Given the description of an element on the screen output the (x, y) to click on. 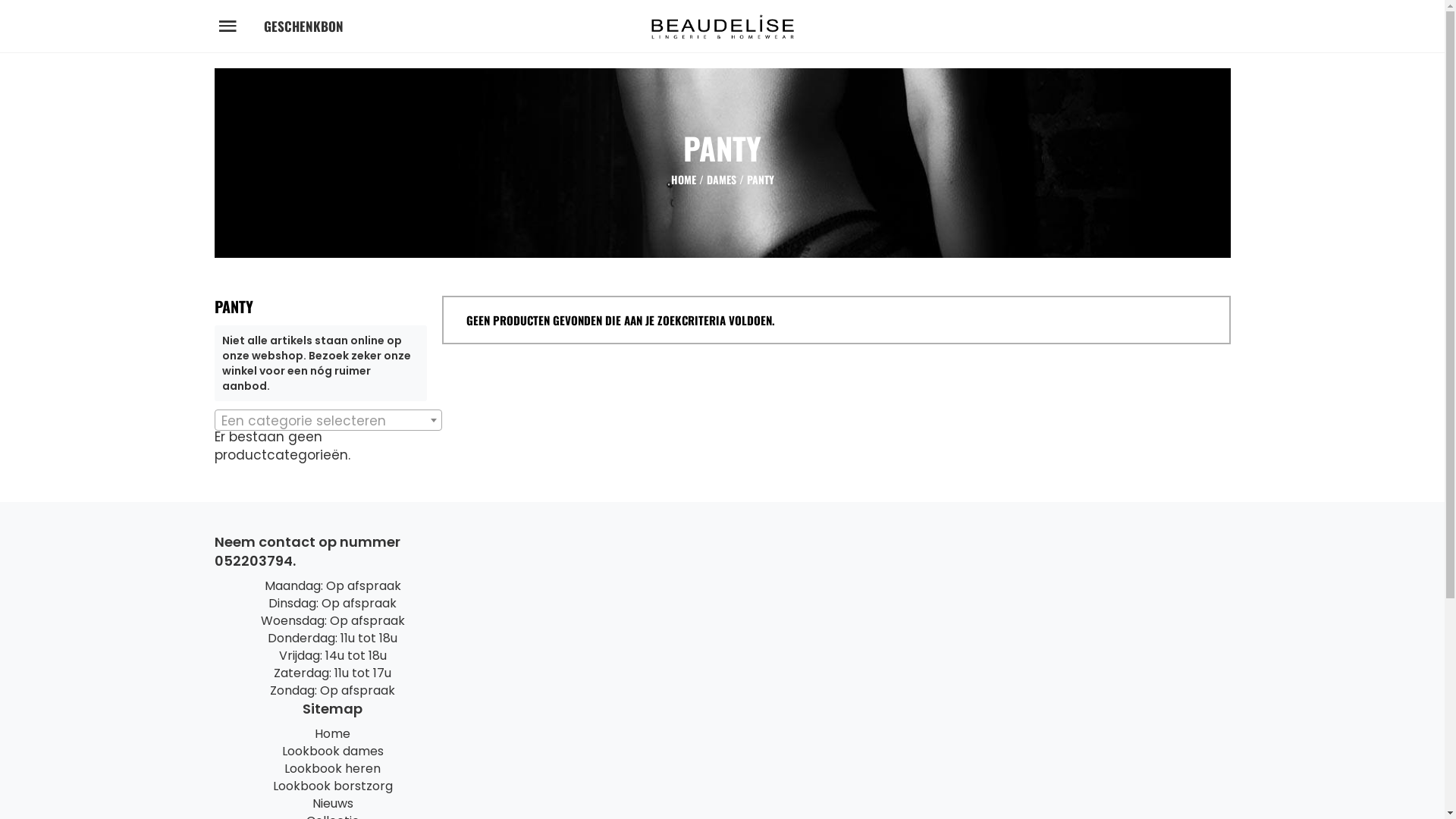
Lookbook dames Element type: text (332, 750)
Lookbook borstzorg Element type: text (332, 785)
Home Element type: text (332, 733)
DAMES Element type: text (721, 179)
HOME Element type: text (682, 179)
Nieuws Element type: text (332, 803)
Lookbook heren Element type: text (332, 768)
